Given the description of an element on the screen output the (x, y) to click on. 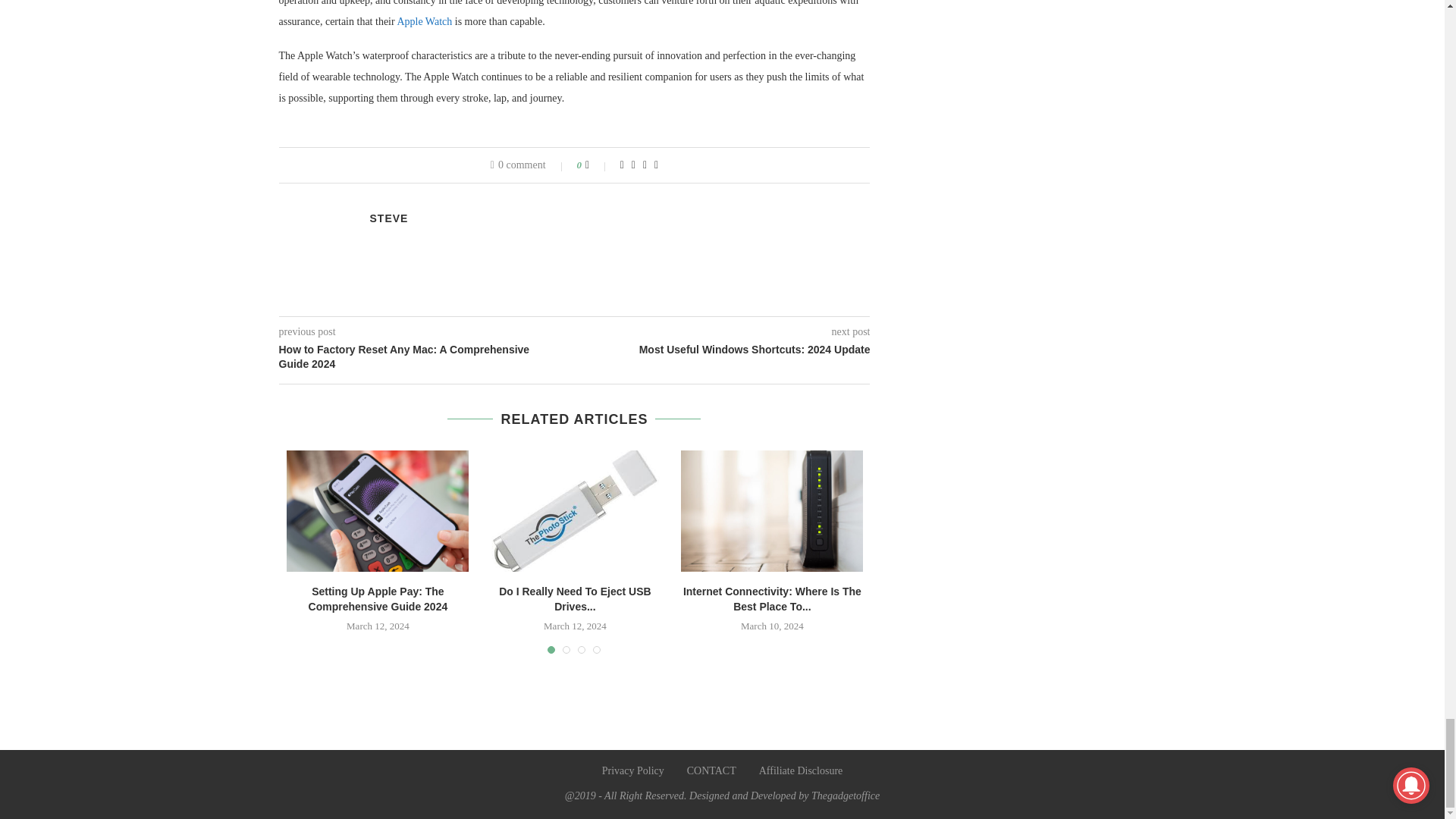
Posts by Steve (389, 218)
Setting Up Apple Pay: The Comprehensive Guide 2024 (377, 510)
Apple Watch (423, 21)
Like (597, 164)
